Given the description of an element on the screen output the (x, y) to click on. 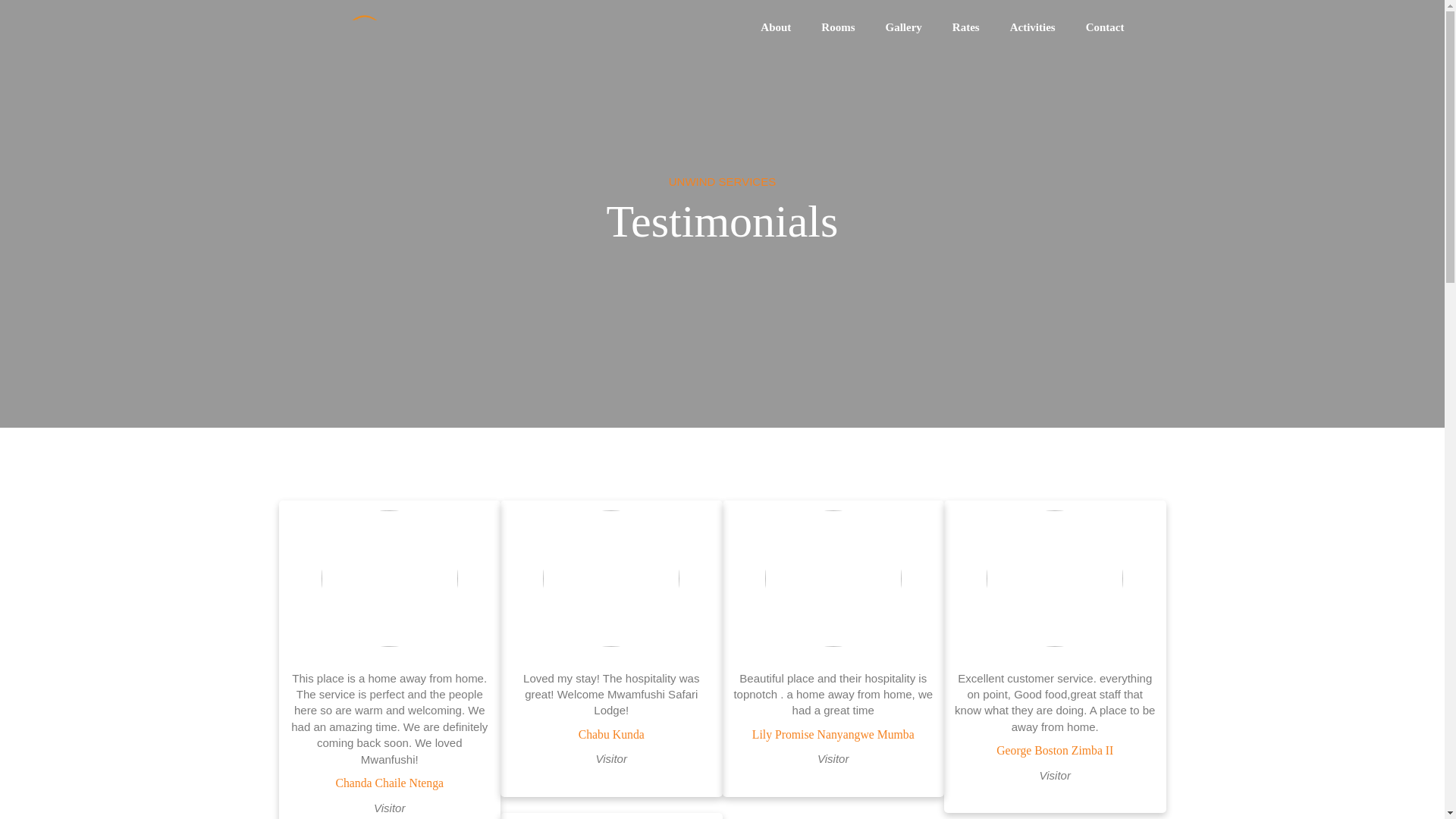
Contact (1120, 27)
Rates (981, 27)
Activities (1048, 27)
Gallery (918, 27)
About (790, 27)
Rooms (853, 27)
